Given the description of an element on the screen output the (x, y) to click on. 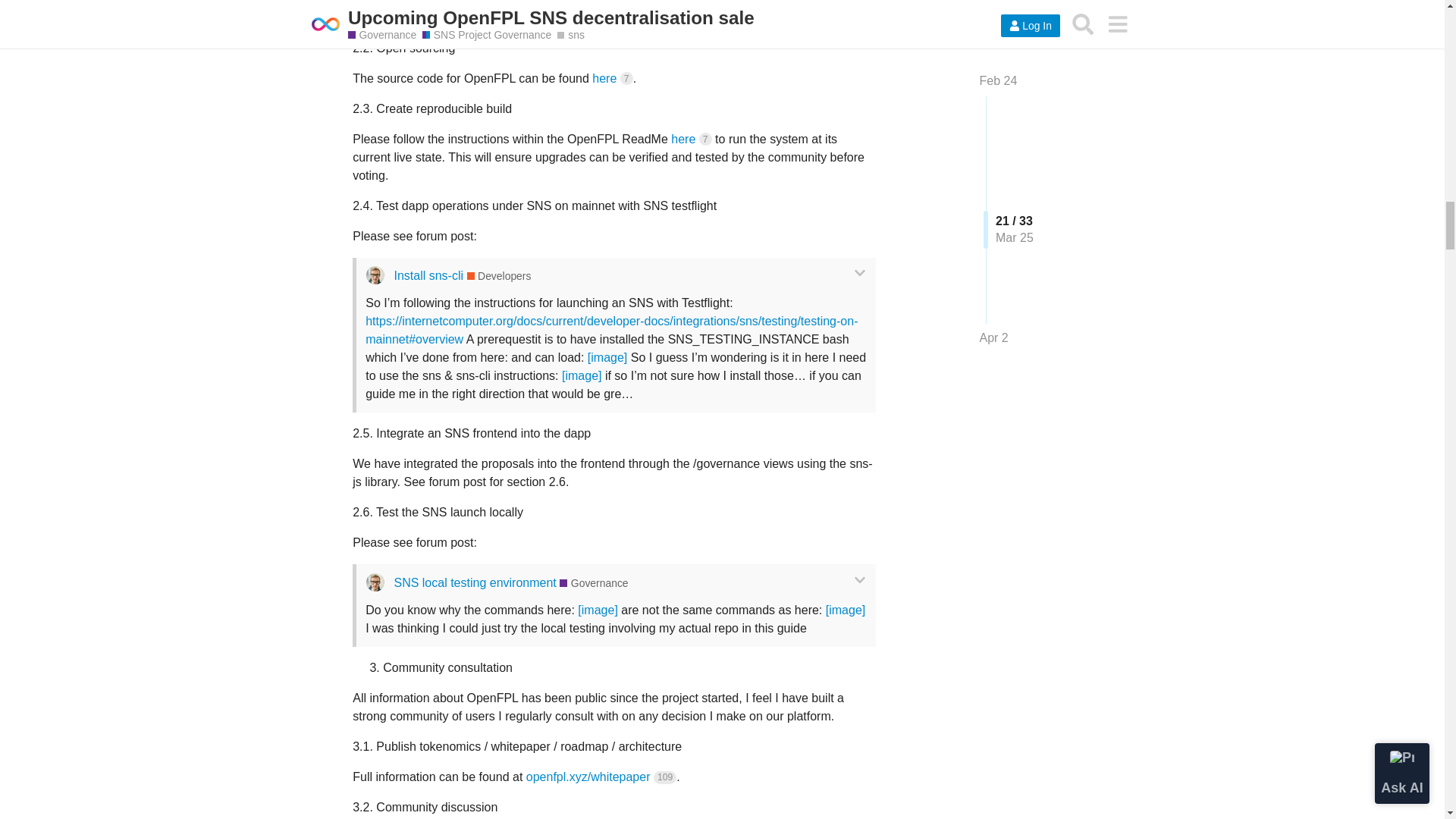
here 7 (611, 78)
Developers (499, 276)
Install sns-cli (428, 275)
here 7 (691, 138)
